Given the description of an element on the screen output the (x, y) to click on. 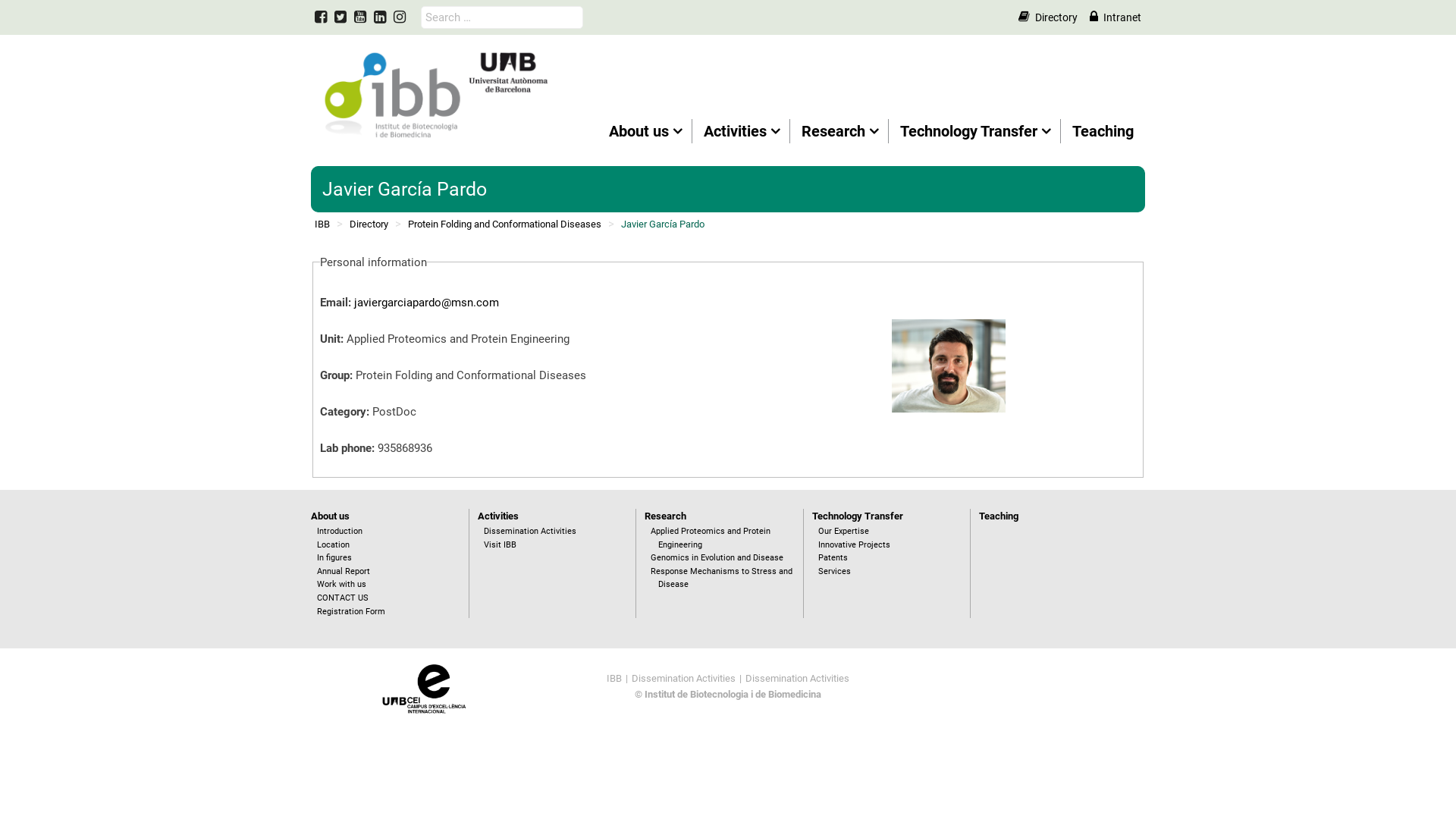
Research Element type: text (839, 131)
Genomics in Evolution and Disease Element type: text (716, 557)
Annual Report Element type: text (343, 571)
Services Element type: text (834, 571)
Youtube Element type: hover (360, 16)
About us Element type: text (329, 515)
LinkedIn Element type: hover (379, 16)
About us Element type: text (644, 131)
Technology Transfer Element type: text (974, 131)
Intranet Element type: text (1114, 17)
Dissemination Activities Element type: text (529, 531)
Response Mechanisms to Stress and Disease Element type: text (721, 577)
Patents Element type: text (832, 557)
Research Element type: text (665, 515)
Work with us Element type: text (341, 584)
Activities Element type: text (741, 131)
Innovative Projects Element type: text (854, 544)
Visit IBB Element type: text (499, 544)
Directory Element type: text (1046, 17)
Teaching Element type: text (1102, 131)
Location Element type: text (332, 544)
Applied Proteomics and Protein Engineering Element type: text (710, 537)
Introduction Element type: text (339, 531)
Dissemination Activities Element type: text (797, 679)
Our Expertise Element type: text (843, 531)
Search Element type: text (32, 15)
IBB Element type: text (321, 224)
javiergarciapardo@msn.com Element type: text (426, 302)
Instagram Element type: hover (399, 16)
Directory Element type: text (368, 224)
UAB-CEI Element type: hover (424, 687)
Technology Transfer Element type: text (857, 515)
Protein Folding and Conformational Diseases Element type: text (504, 224)
Facebook Element type: hover (320, 16)
Dissemination Activities Element type: text (683, 679)
IBB Element type: text (613, 679)
Activities Element type: text (497, 515)
In figures Element type: text (333, 557)
Teaching Element type: text (998, 515)
Registration Form Element type: text (350, 611)
CONTACT US Element type: text (342, 597)
Twitter Element type: hover (340, 16)
